Given the description of an element on the screen output the (x, y) to click on. 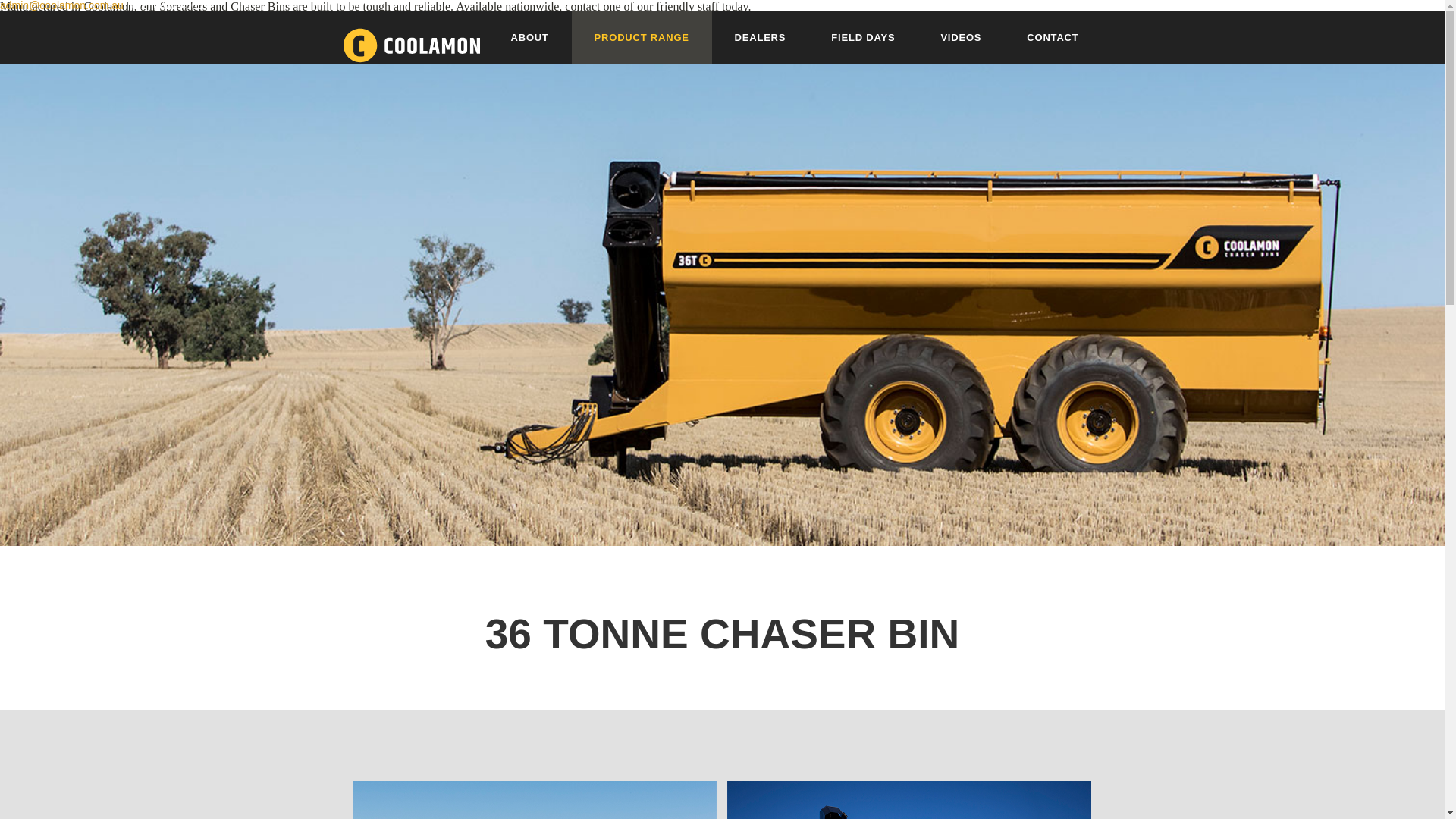
PRODUCT RANGE Element type: text (641, 37)
DEALERS Element type: text (760, 37)
ABOUT Element type: text (529, 37)
CONTACT Element type: text (1052, 37)
FIELD DAYS Element type: text (862, 37)
VIDEOS Element type: text (960, 37)
